Given the description of an element on the screen output the (x, y) to click on. 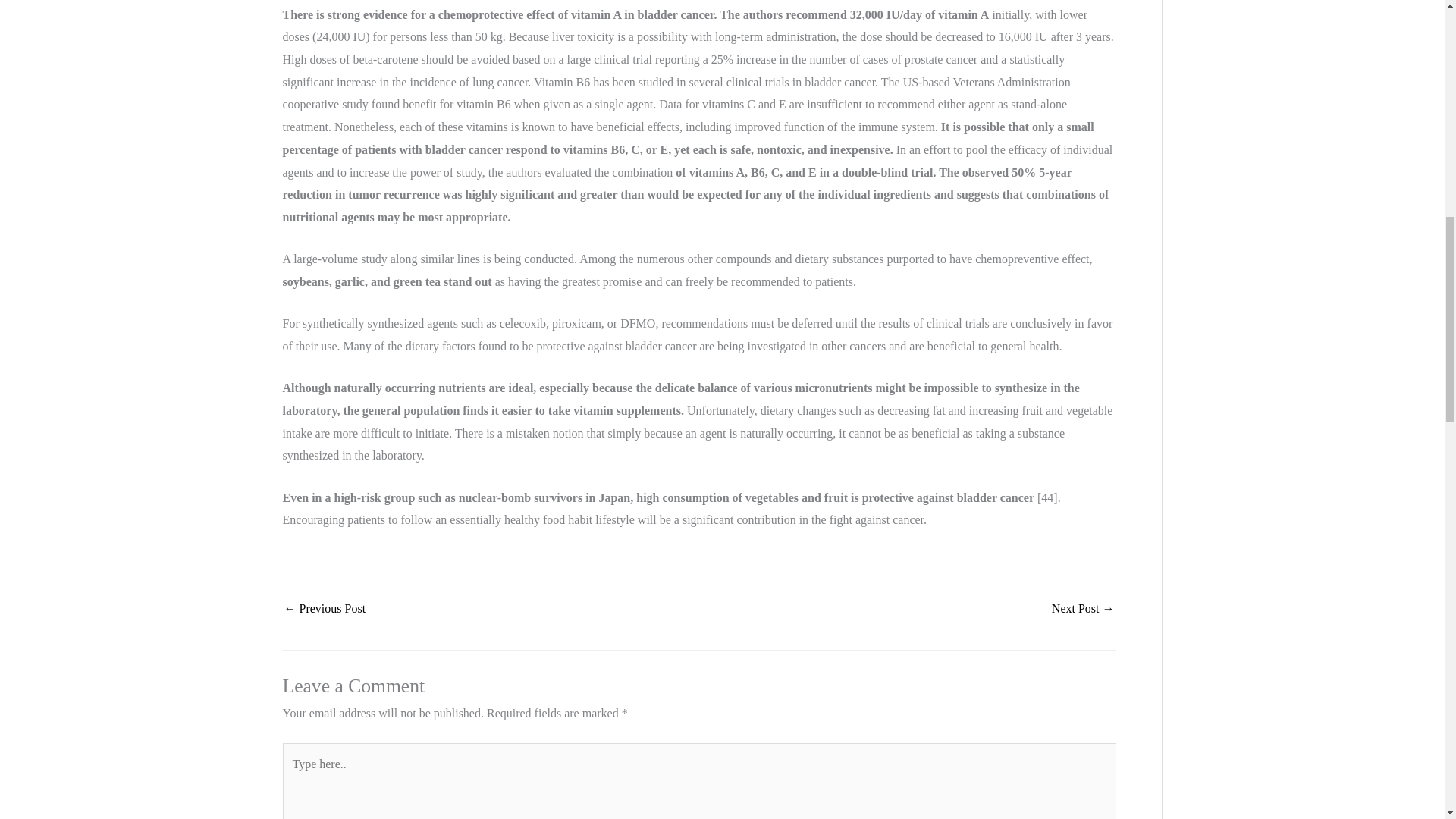
Milk and Liver Cancer (324, 610)
Medical Child Abuse (1083, 610)
